Given the description of an element on the screen output the (x, y) to click on. 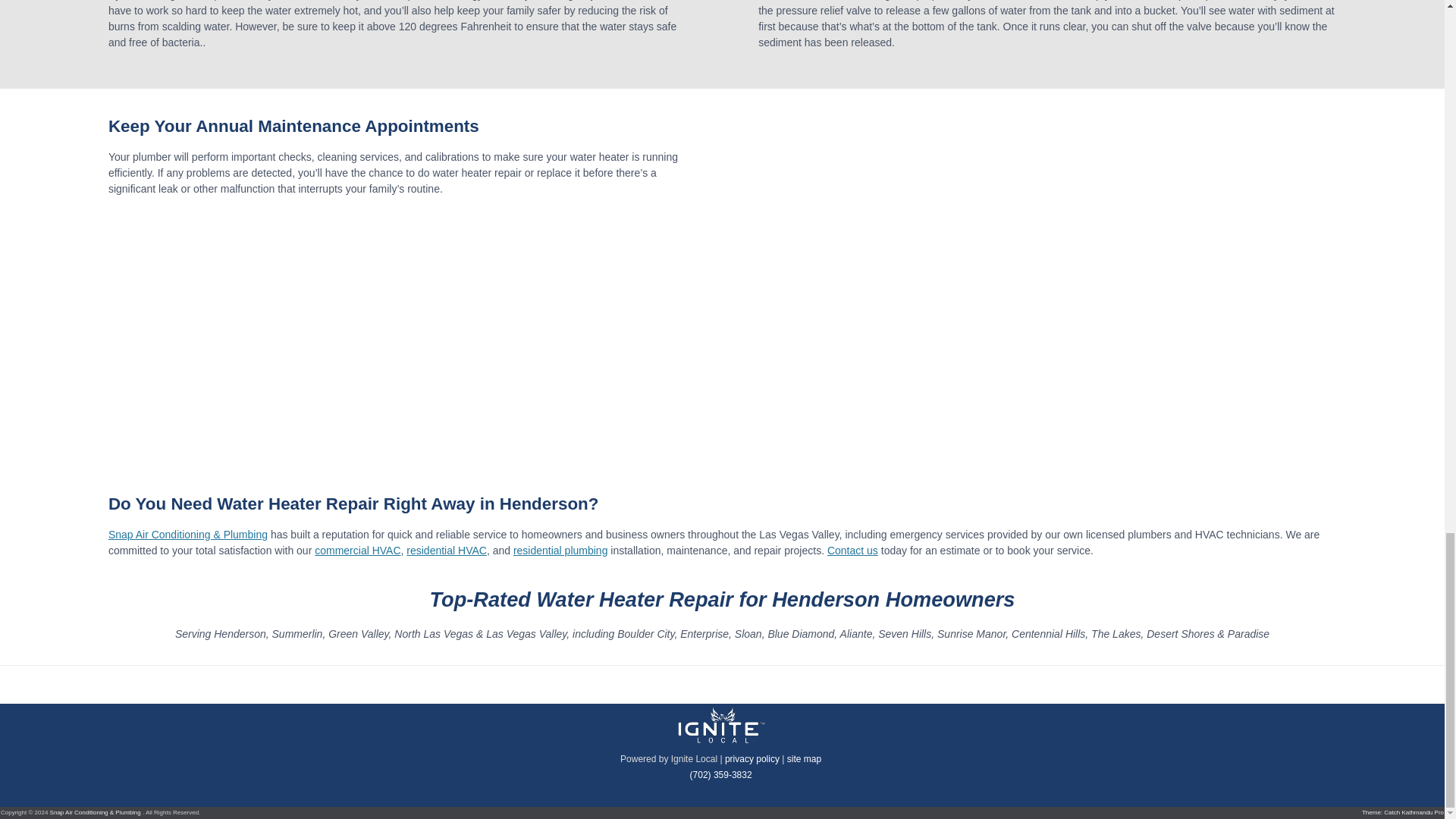
residential plumbing (560, 550)
privacy policy (751, 758)
Contact us (852, 550)
residential HVAC (446, 550)
site map (804, 758)
Theme: Catch Kathmandu Pro (1402, 812)
commercial HVAC (357, 550)
Catch Kathmandu Pro (1402, 812)
